Given the description of an element on the screen output the (x, y) to click on. 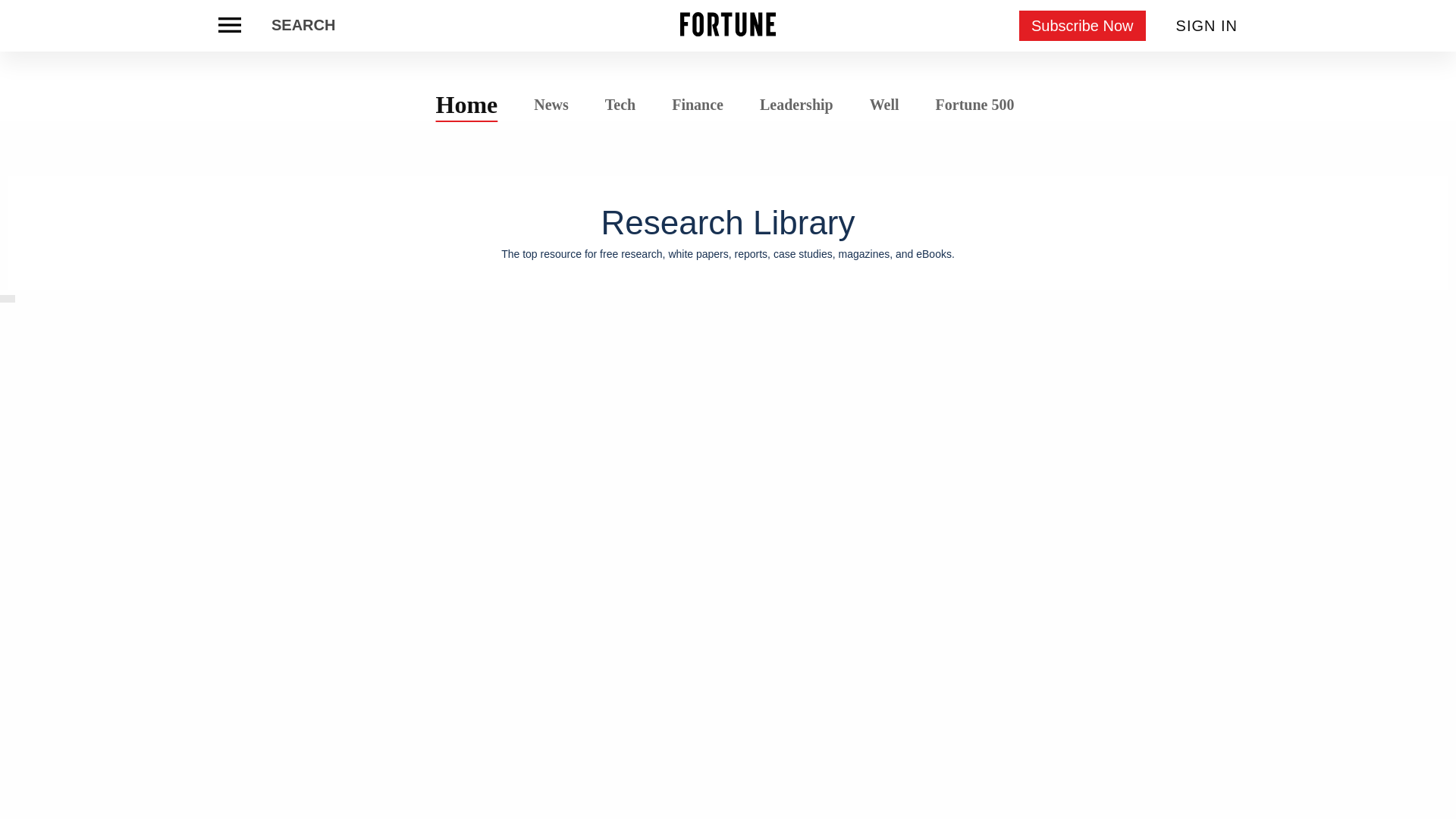
SIGN IN (1206, 25)
Home (466, 103)
News (550, 103)
Subscribe Now (1082, 25)
Finance (697, 104)
Fortune 500 (974, 103)
SEARCH (302, 25)
Well (884, 104)
Leadership (796, 104)
Tech (619, 104)
